Given the description of an element on the screen output the (x, y) to click on. 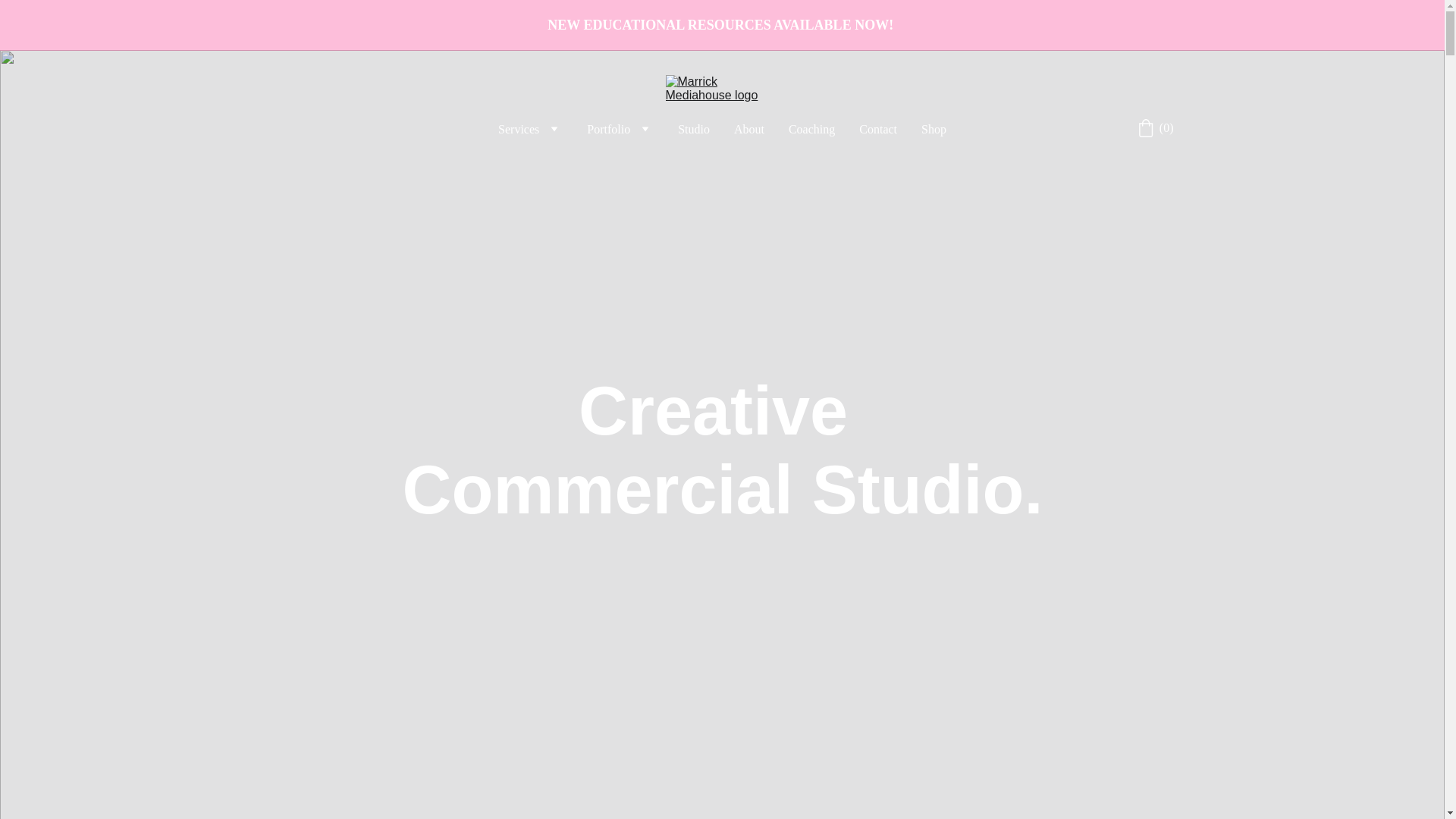
Studio (694, 129)
Go to cart (1154, 127)
Coaching (811, 129)
Shop (933, 129)
About (748, 129)
Contact (877, 129)
